Given the description of an element on the screen output the (x, y) to click on. 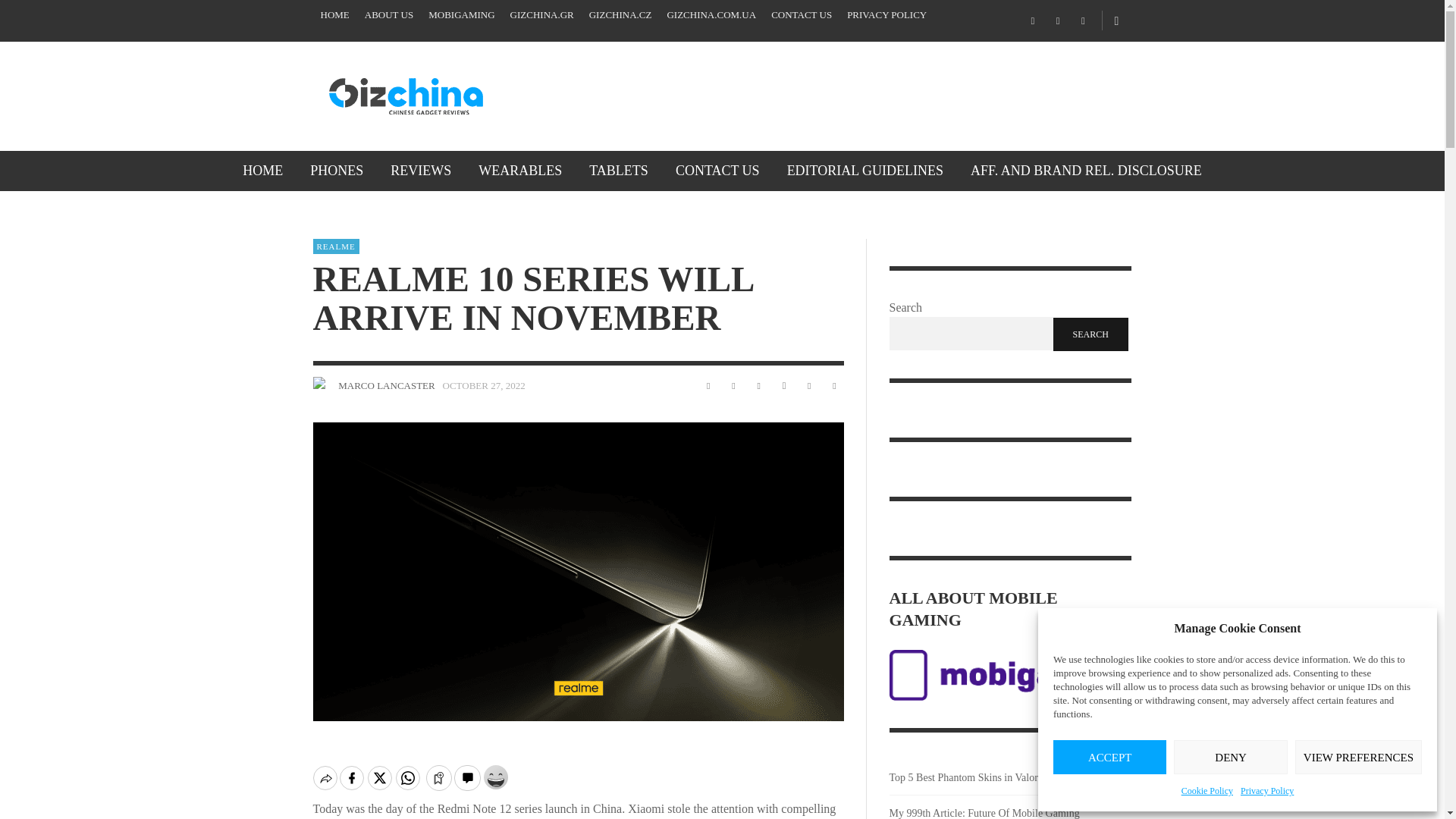
Cookie Policy (1206, 791)
PRIVACY POLICY (887, 15)
CONTACT US (801, 15)
MOBIGAMING (461, 15)
GIZCHINA.CZ (619, 15)
HOME (262, 170)
GIZCHINA.COM.UA (710, 15)
VIEW PREFERENCES (1358, 756)
ABOUT US (388, 15)
PHONES (337, 170)
Privacy Policy (1267, 791)
GIZCHINA.GR (541, 15)
DENY (1230, 756)
ACCEPT (1109, 756)
HOME (334, 15)
